Given the description of an element on the screen output the (x, y) to click on. 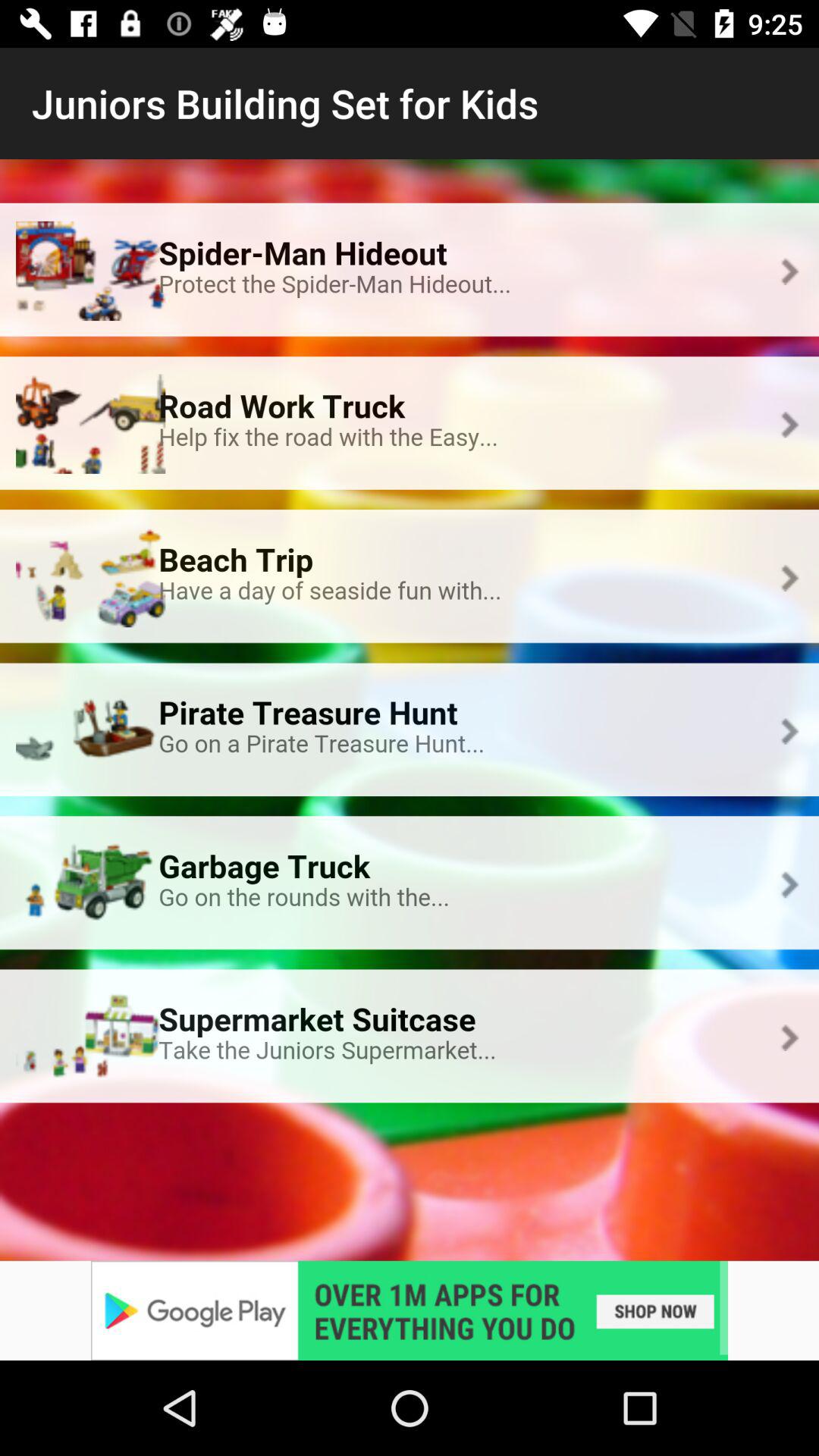
google play advertisement option (409, 1310)
